Given the description of an element on the screen output the (x, y) to click on. 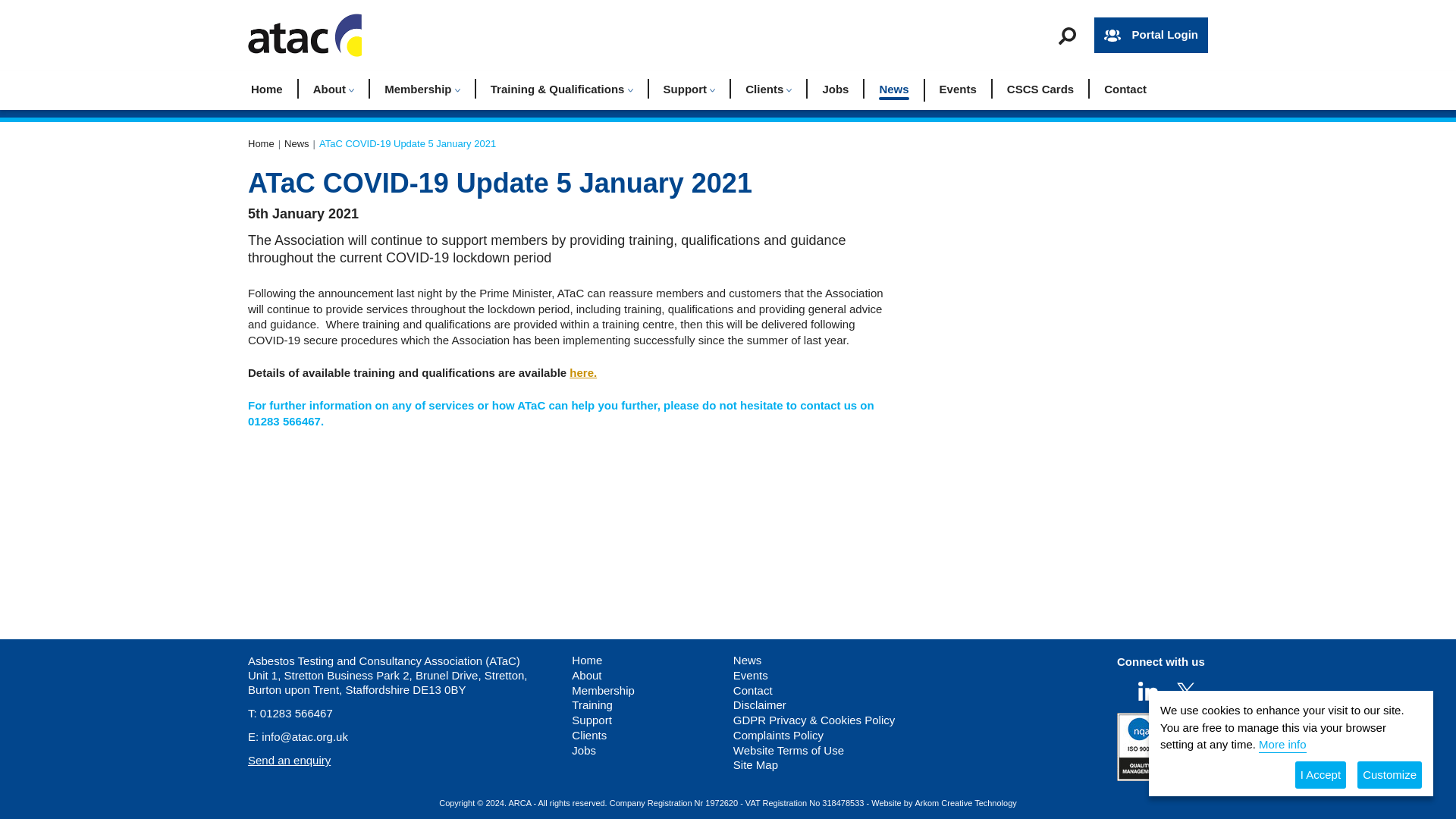
Home (274, 88)
ATAC (261, 143)
Membership (422, 88)
Site created by Arkom Creative Technology (965, 802)
Contact Us (288, 759)
Portal Login (1151, 34)
Support (690, 88)
About (333, 88)
News (295, 143)
X (1185, 691)
